Given the description of an element on the screen output the (x, y) to click on. 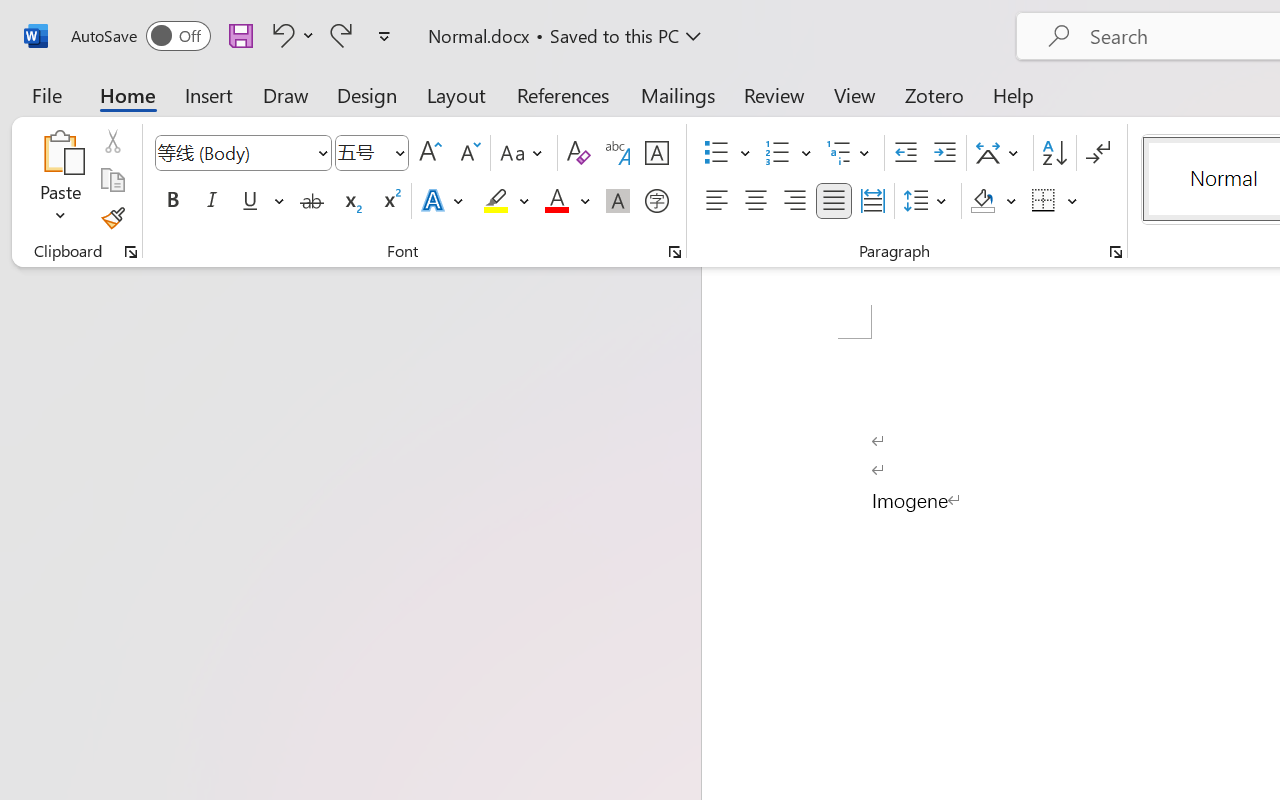
Justify (834, 201)
Multilevel List (850, 153)
Paragraph... (1115, 252)
Undo Typing (280, 35)
Bold (172, 201)
Distributed (872, 201)
Shading (993, 201)
Font Color RGB(255, 0, 0) (556, 201)
Character Border (656, 153)
Undo Typing (290, 35)
